Given the description of an element on the screen output the (x, y) to click on. 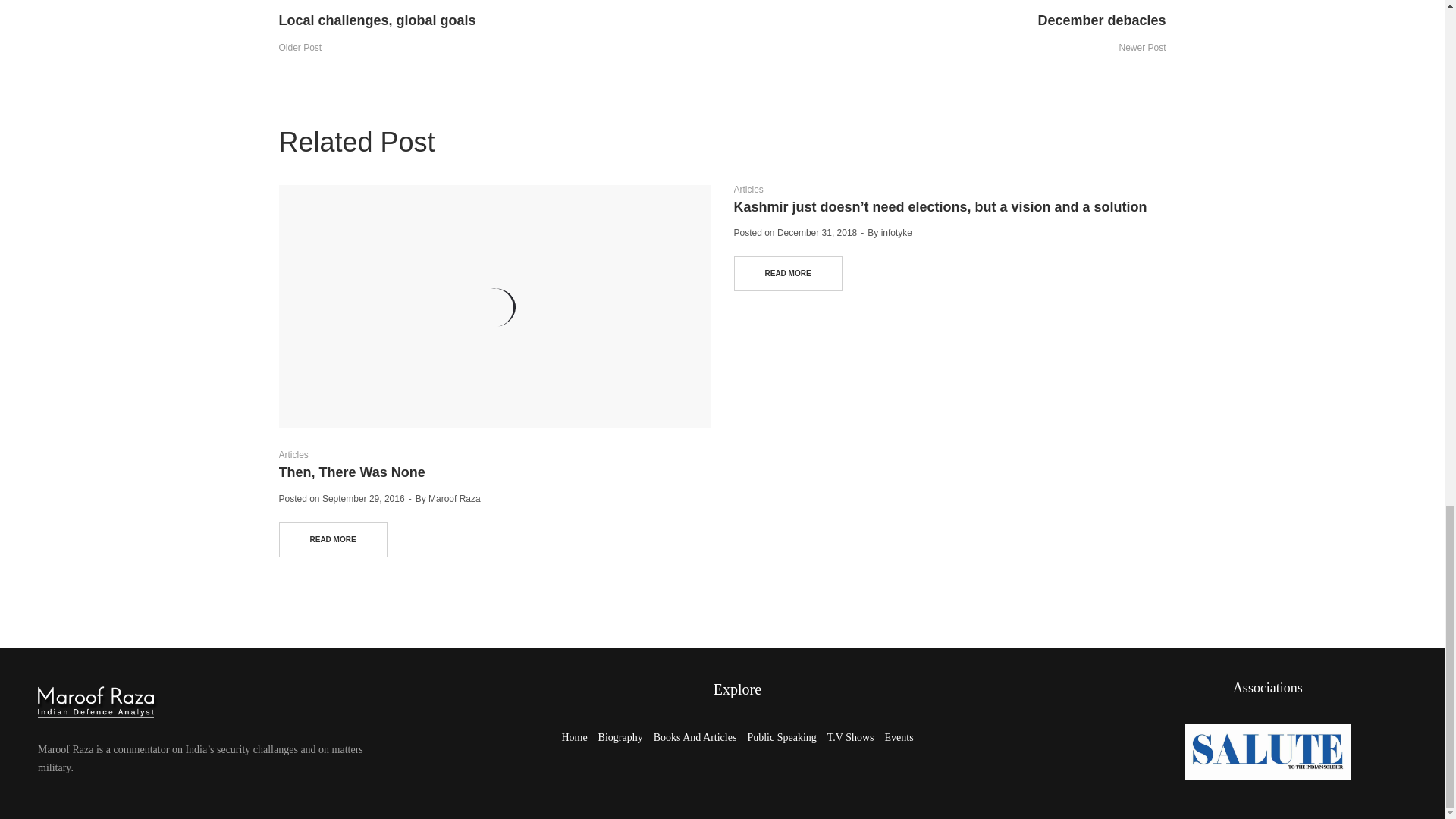
Articles (411, 32)
Then, There Was None (293, 454)
